Given the description of an element on the screen output the (x, y) to click on. 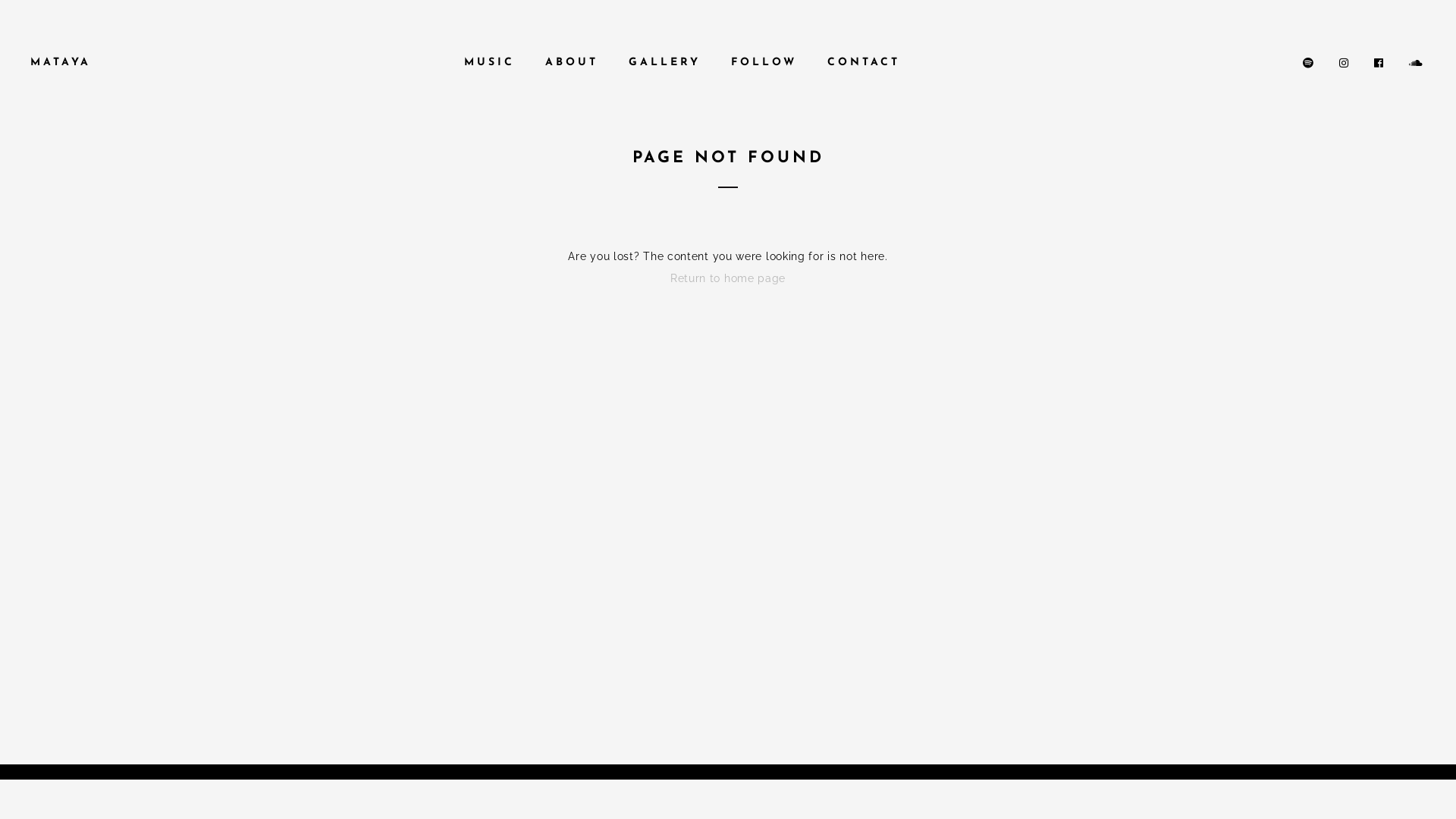
MUSIC Element type: text (489, 62)
CONTACT Element type: text (862, 62)
Spotify Element type: hover (1309, 62)
FOLLOW Element type: text (763, 62)
Facebook Element type: hover (1380, 62)
ABOUT Element type: text (570, 62)
Return to home page Element type: text (727, 278)
MATAYA Element type: text (60, 62)
Instagram Element type: hover (1345, 62)
GALLERY Element type: text (663, 62)
SoundCloud Element type: hover (1416, 62)
